Given the description of an element on the screen output the (x, y) to click on. 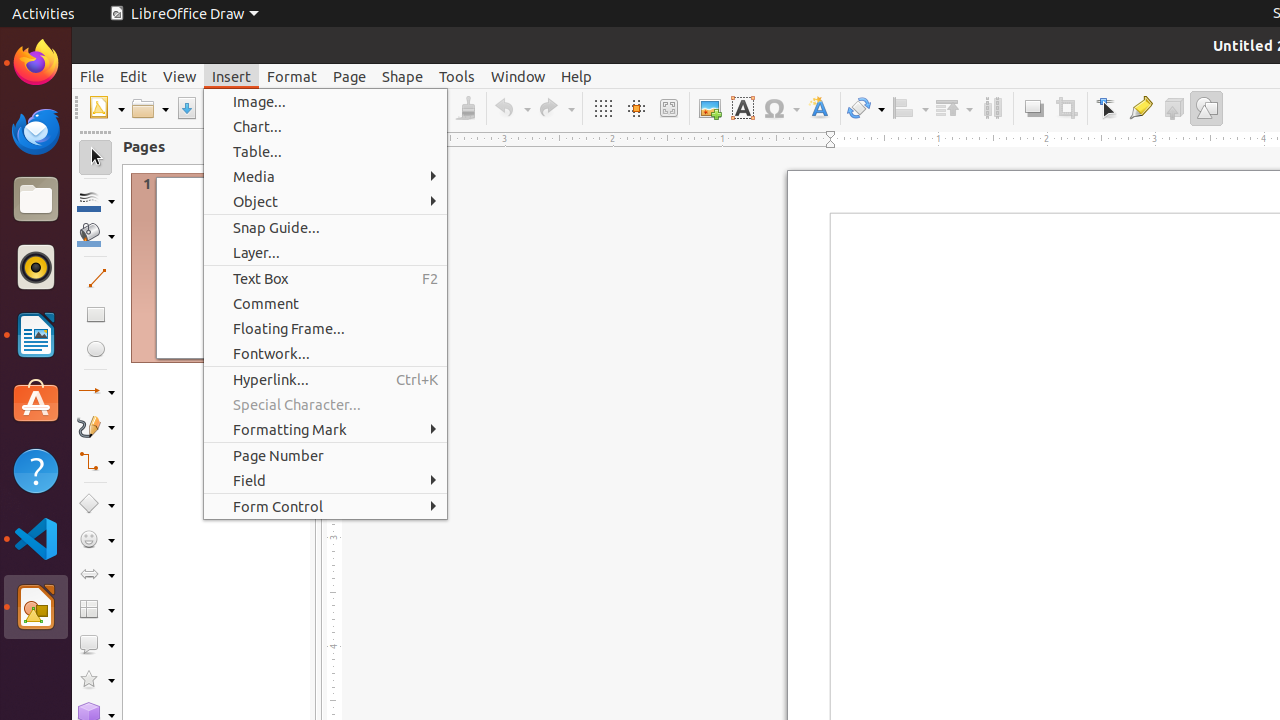
View Element type: menu (179, 76)
Toggle Extrusion Element type: push-button (1173, 108)
Help Element type: push-button (36, 470)
Thunderbird Mail Element type: push-button (36, 131)
Special Character... Element type: menu-item (325, 404)
